Given the description of an element on the screen output the (x, y) to click on. 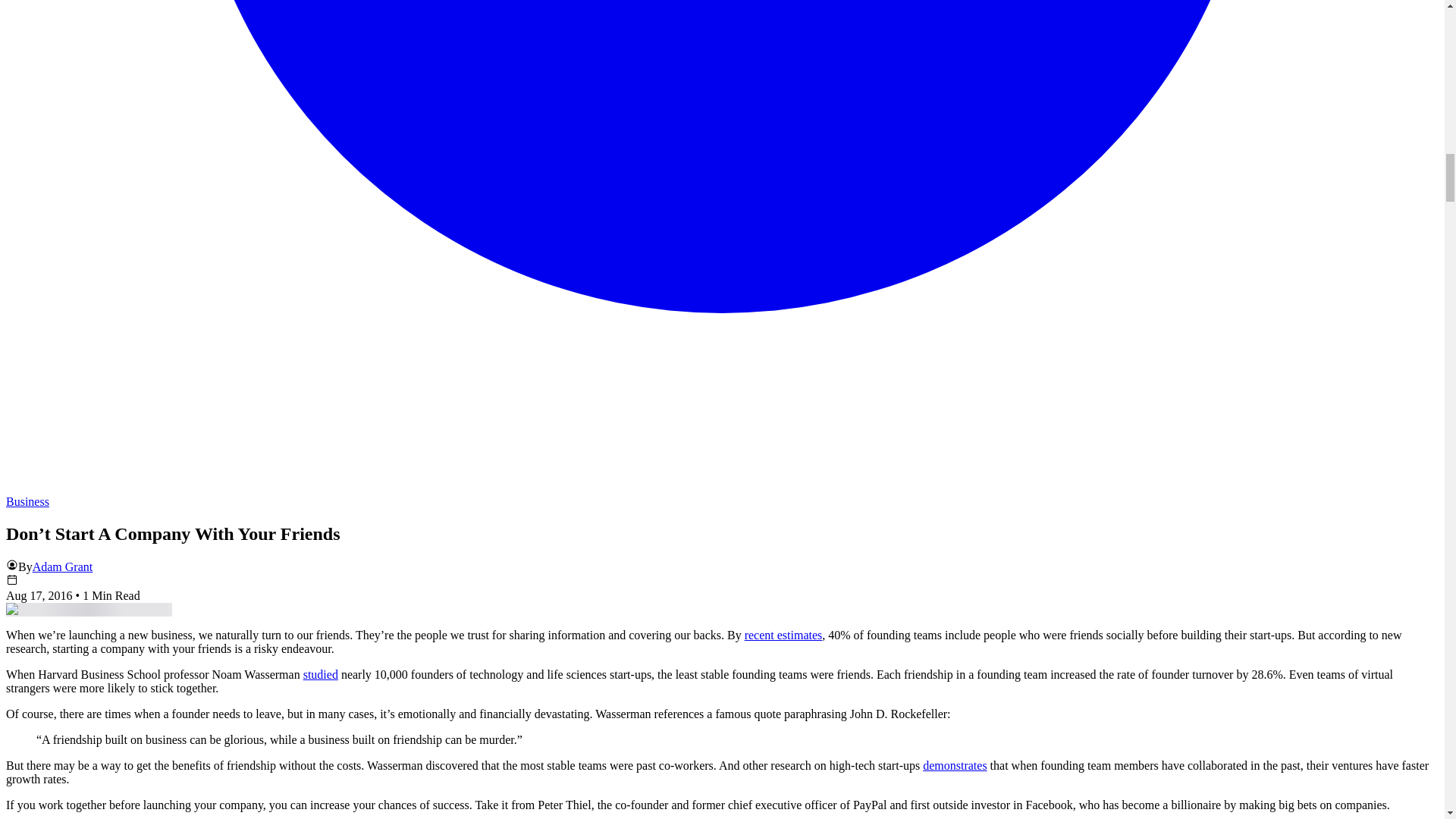
Adam Grant (62, 566)
demonstrates (955, 765)
studied (319, 674)
recent estimates (783, 634)
